Given the description of an element on the screen output the (x, y) to click on. 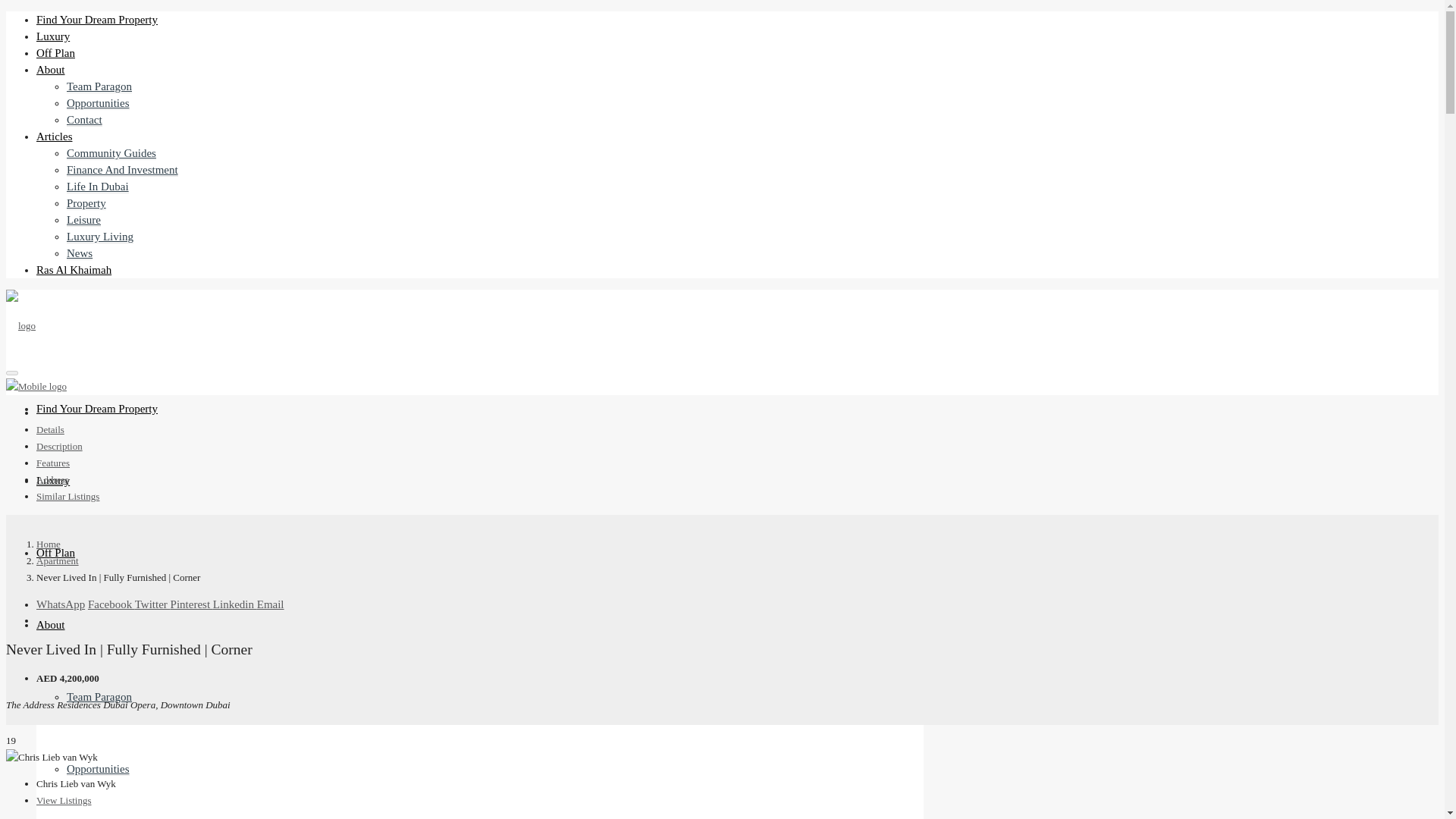
Opportunities (97, 103)
About (50, 69)
Property (86, 203)
Team Paragon (99, 697)
Opportunities (97, 768)
Community Guides (110, 153)
Luxury (52, 36)
About (50, 624)
Life In Dubai (97, 186)
Ras Al Khaimah (74, 269)
